Given the description of an element on the screen output the (x, y) to click on. 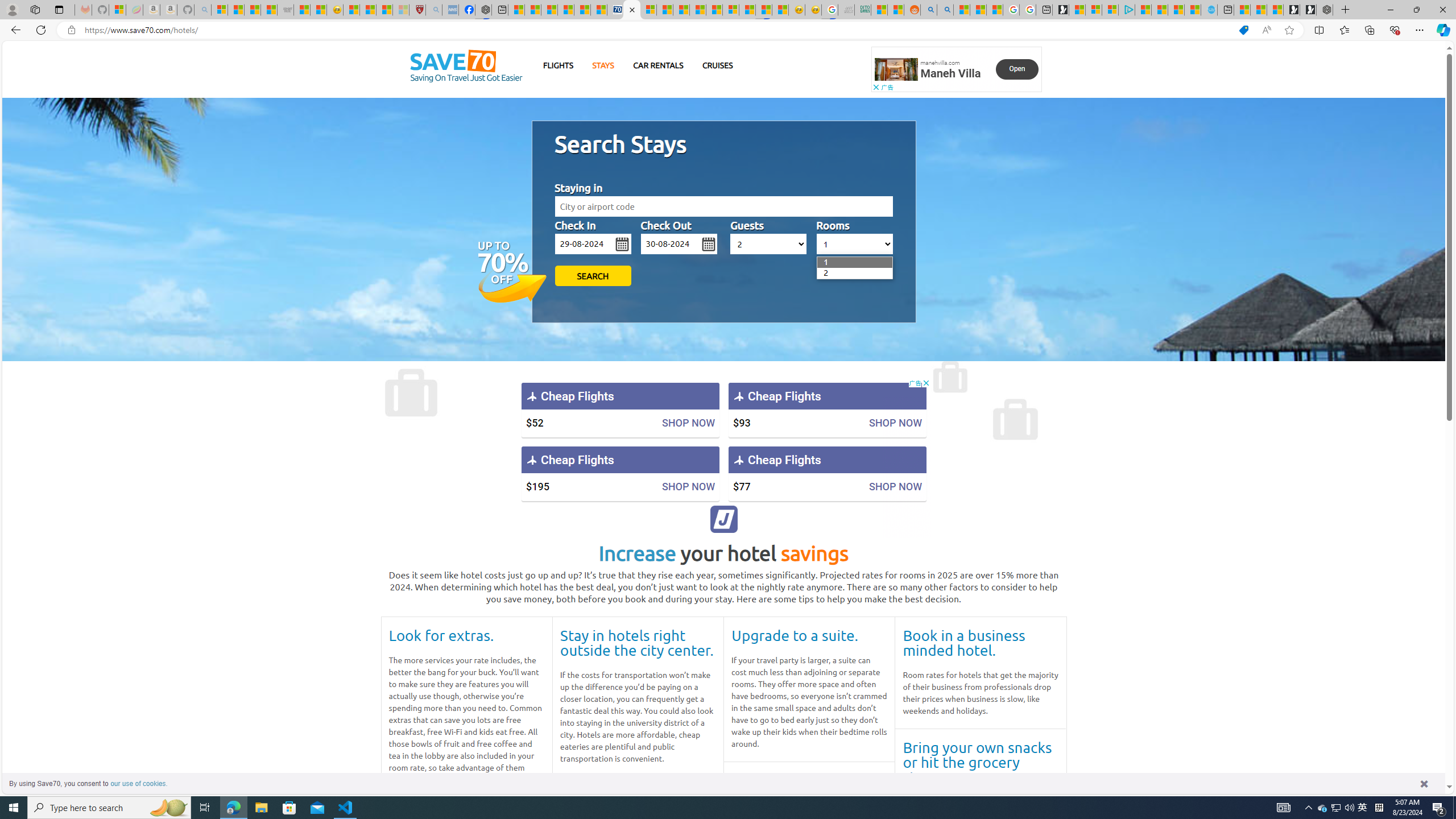
Maneh Villa (950, 73)
Cheap Flights $195 SHOP NOW (620, 473)
CRUISES (717, 65)
AutomationID: hotels_rooms (854, 243)
